Given the description of an element on the screen output the (x, y) to click on. 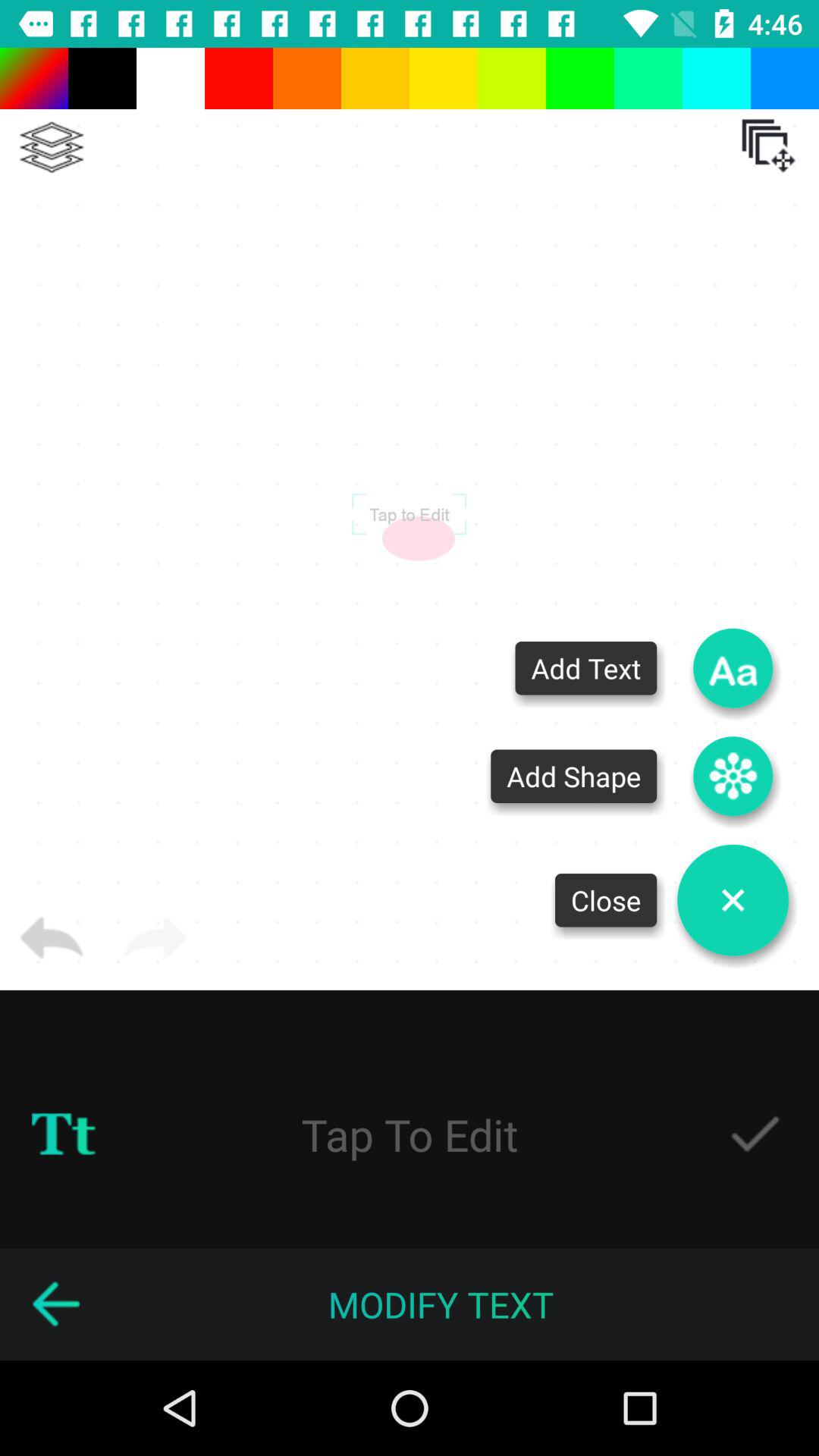
go to previous page (55, 1304)
